Given the description of an element on the screen output the (x, y) to click on. 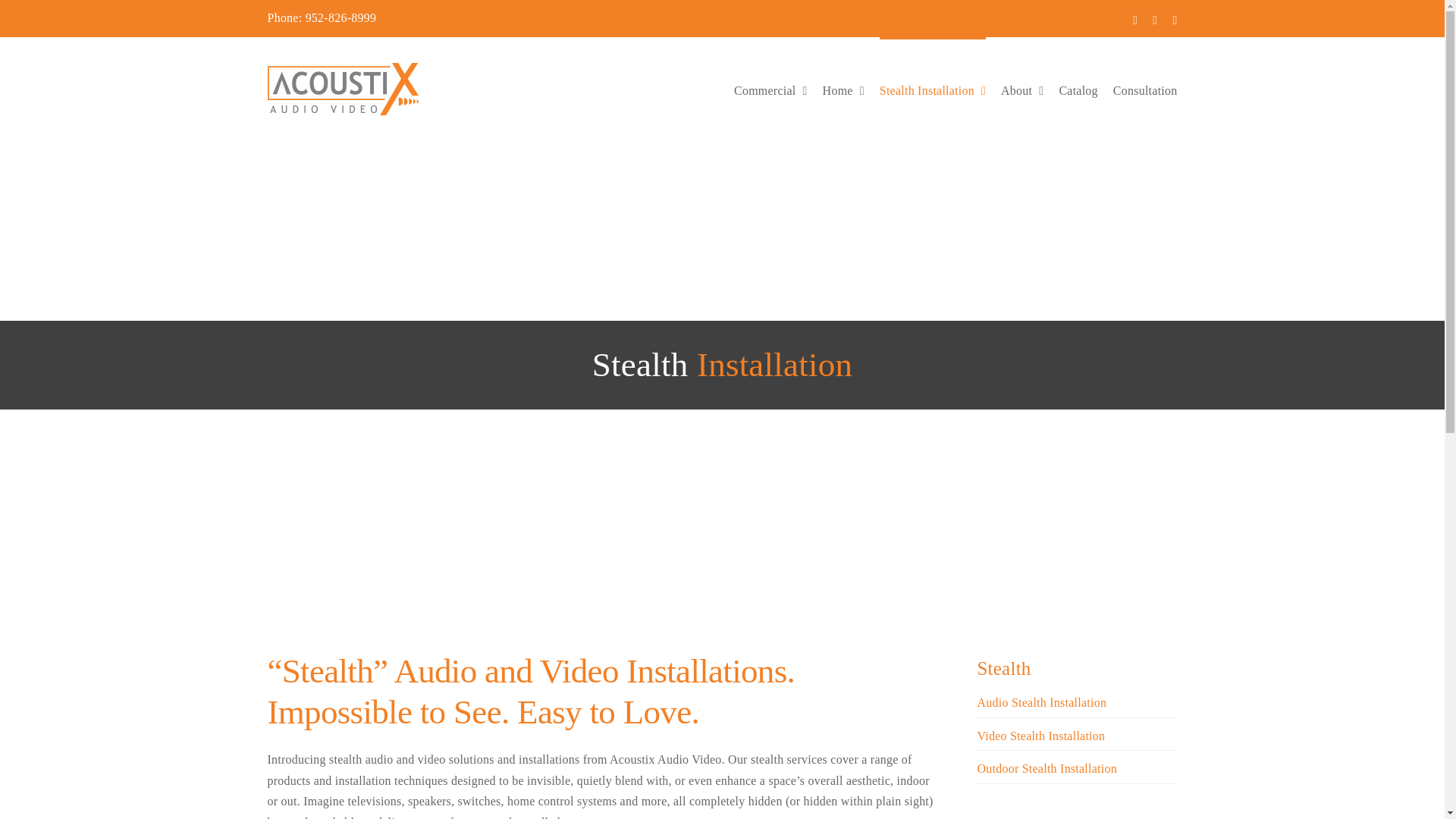
Stealth Installation (932, 88)
